Given the description of an element on the screen output the (x, y) to click on. 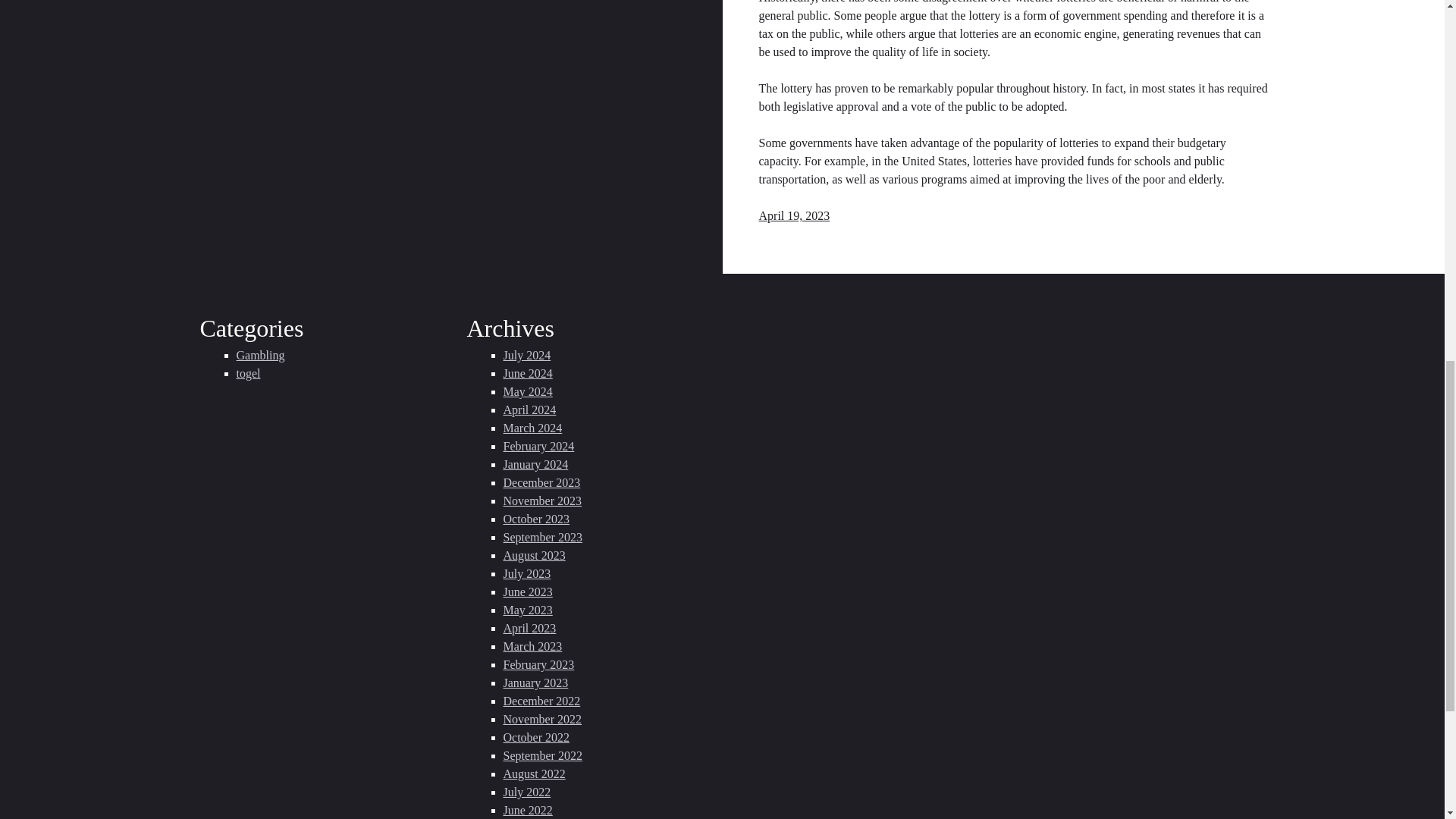
November 2023 (542, 500)
April 2024 (529, 409)
Gambling (260, 354)
September 2022 (542, 755)
July 2024 (527, 354)
April 2023 (529, 627)
togel (247, 373)
August 2022 (534, 773)
June 2023 (528, 591)
April 19, 2023 (793, 215)
February 2024 (539, 445)
August 2023 (534, 554)
June 2024 (528, 373)
June 2022 (528, 809)
September 2023 (542, 536)
